Given the description of an element on the screen output the (x, y) to click on. 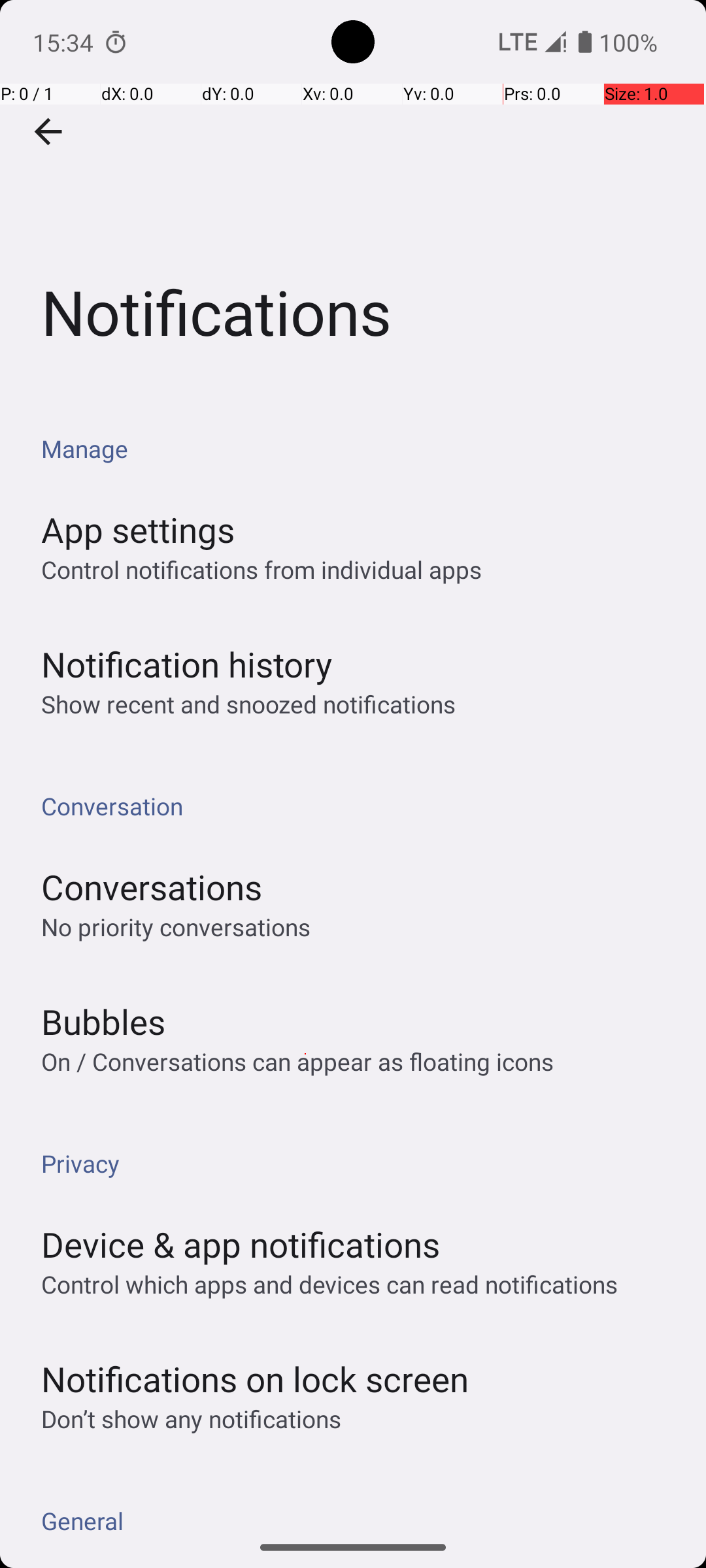
Don’t show any notifications Element type: android.widget.TextView (191, 1418)
